Given the description of an element on the screen output the (x, y) to click on. 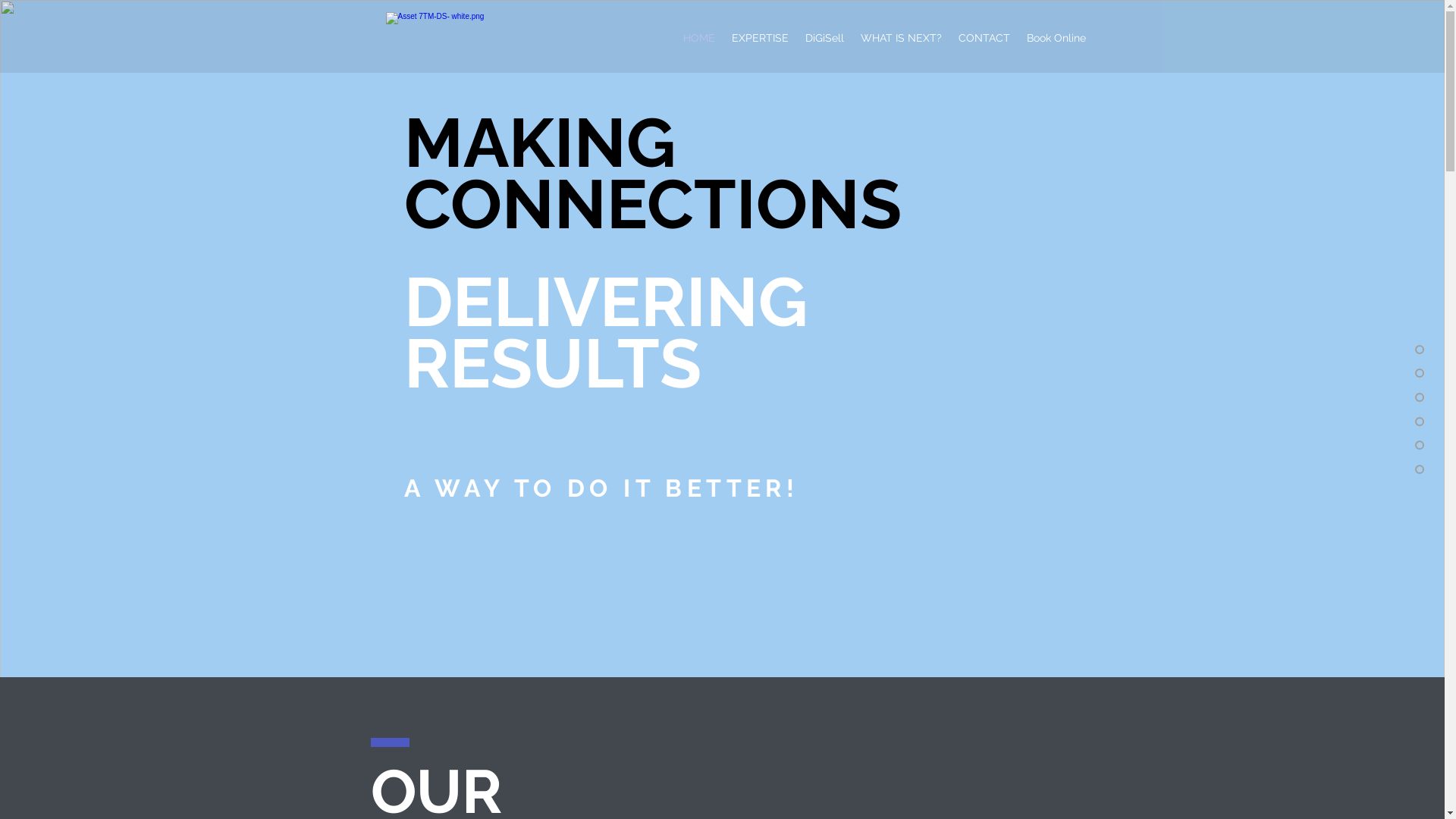
CONTACT Element type: text (983, 37)
EXPERTISE Element type: text (760, 37)
HOME Element type: text (698, 37)
WHAT IS NEXT? Element type: text (901, 37)
Book Online Element type: text (1055, 37)
DiGiSell Element type: text (823, 37)
